Given the description of an element on the screen output the (x, y) to click on. 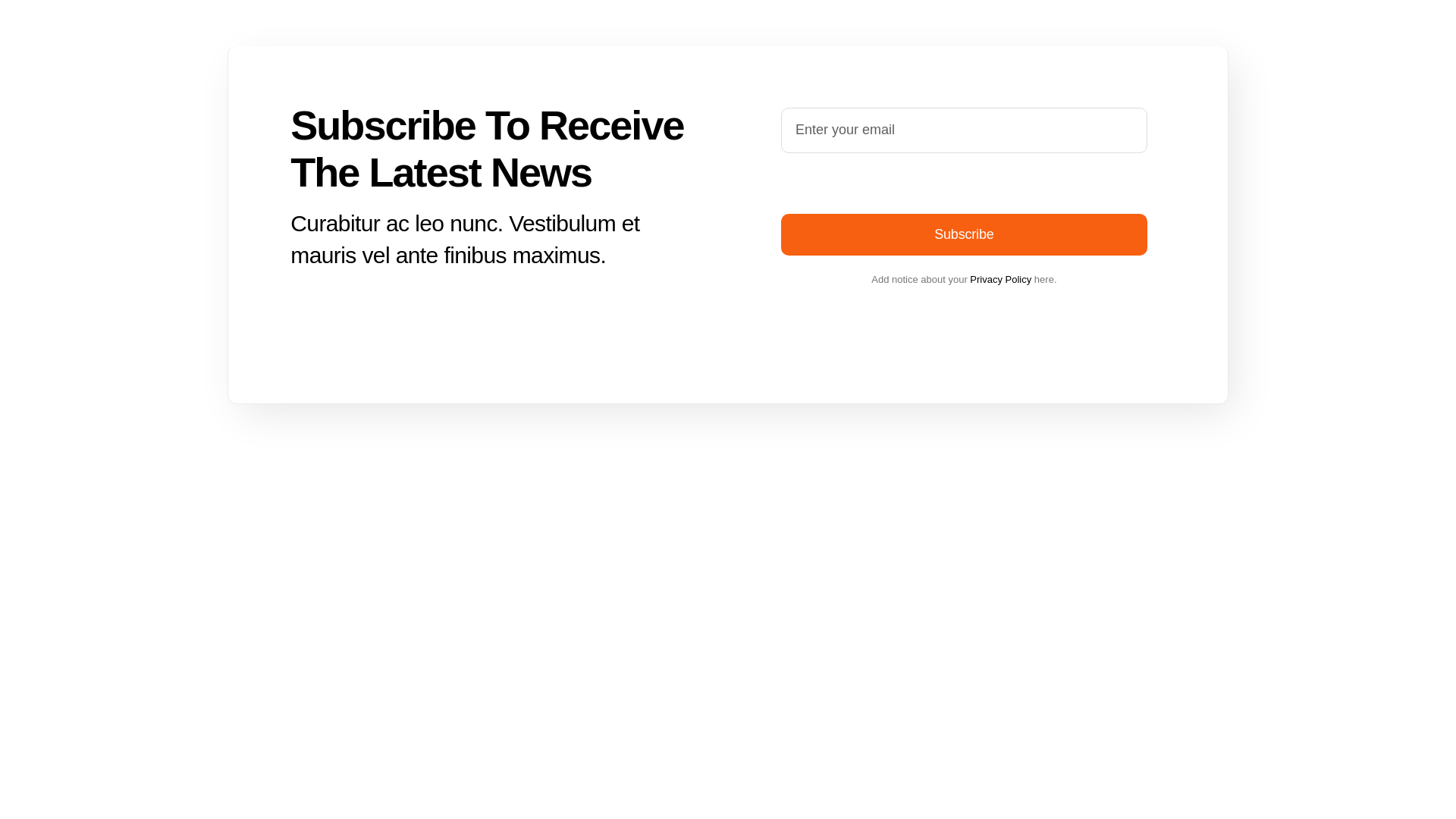
Privacy Policy (999, 279)
Subscribe (963, 181)
Subscribe (963, 234)
